Given the description of an element on the screen output the (x, y) to click on. 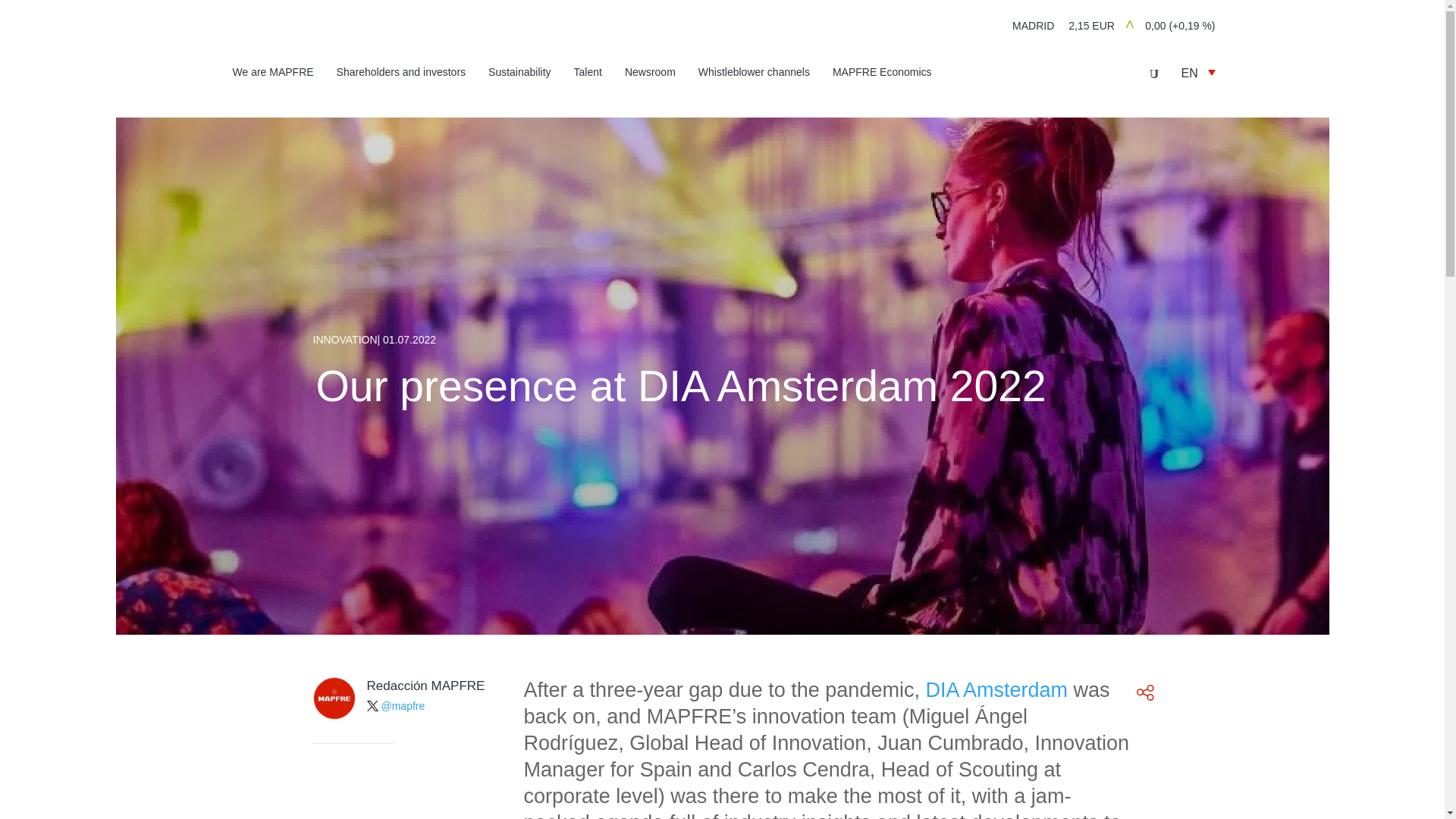
Shareholders and investors (400, 74)
We are MAPFRE (272, 74)
